Given the description of an element on the screen output the (x, y) to click on. 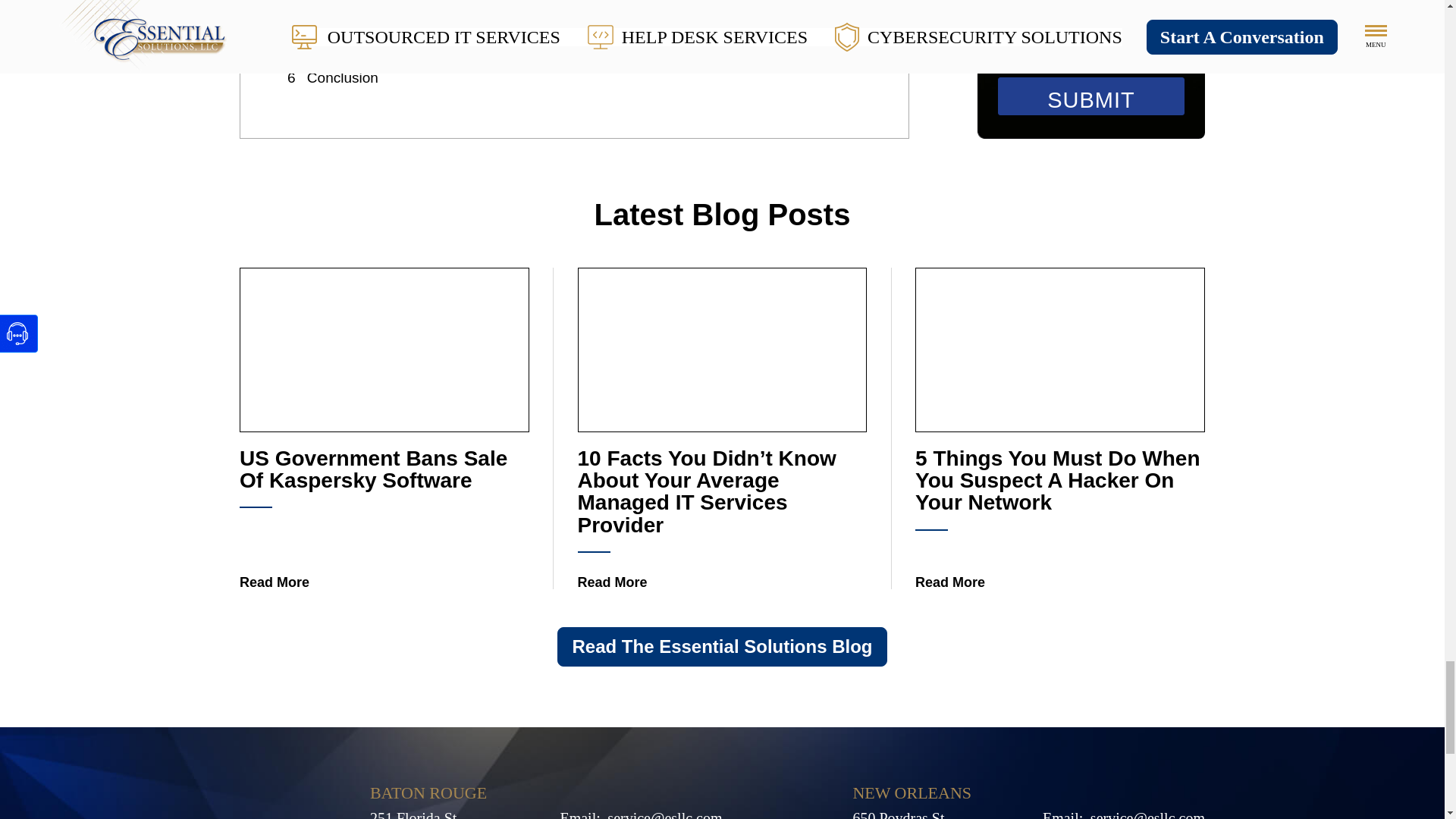
US Government Bans Sale Of Kaspersky Software (384, 574)
